Given the description of an element on the screen output the (x, y) to click on. 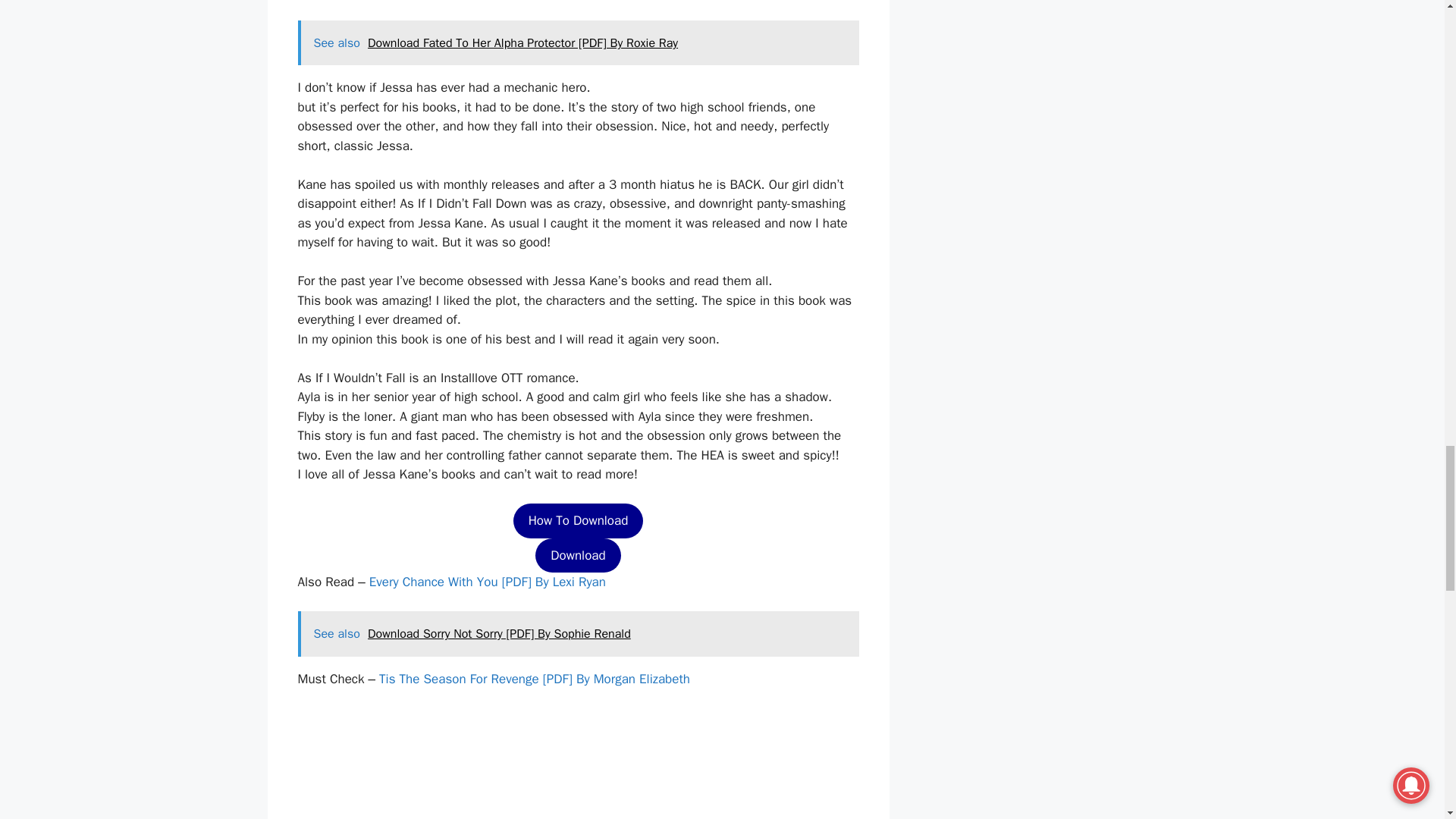
Advertisement (572, 763)
